Given the description of an element on the screen output the (x, y) to click on. 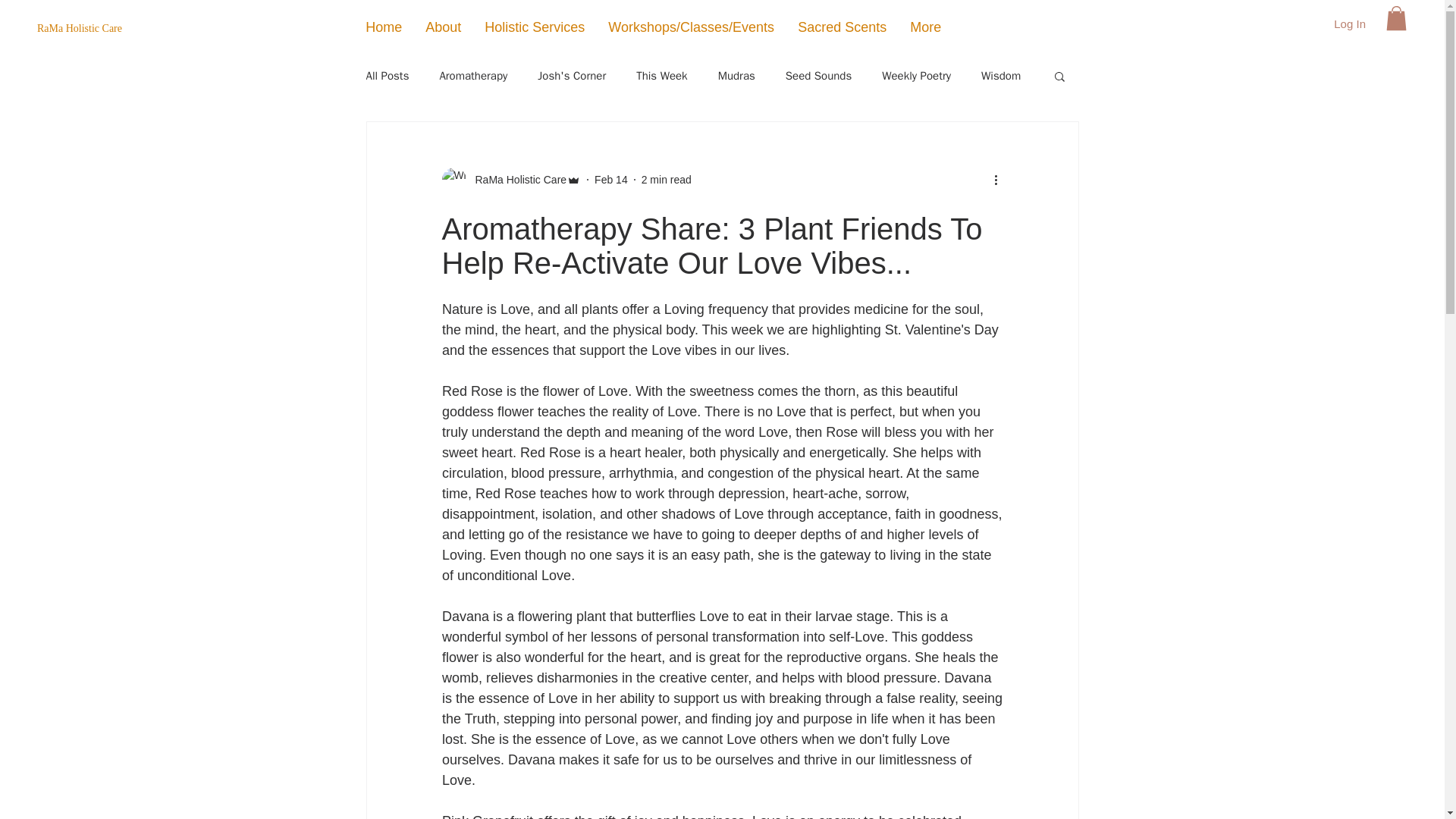
About (442, 27)
Aromatherapy (472, 74)
Log In (1349, 23)
Home (383, 27)
RaMa Holistic Care  (515, 179)
Holistic Services (533, 27)
All Posts (387, 74)
2 min read (666, 178)
RaMa Holistic Care (157, 28)
Feb 14 (610, 178)
